Given the description of an element on the screen output the (x, y) to click on. 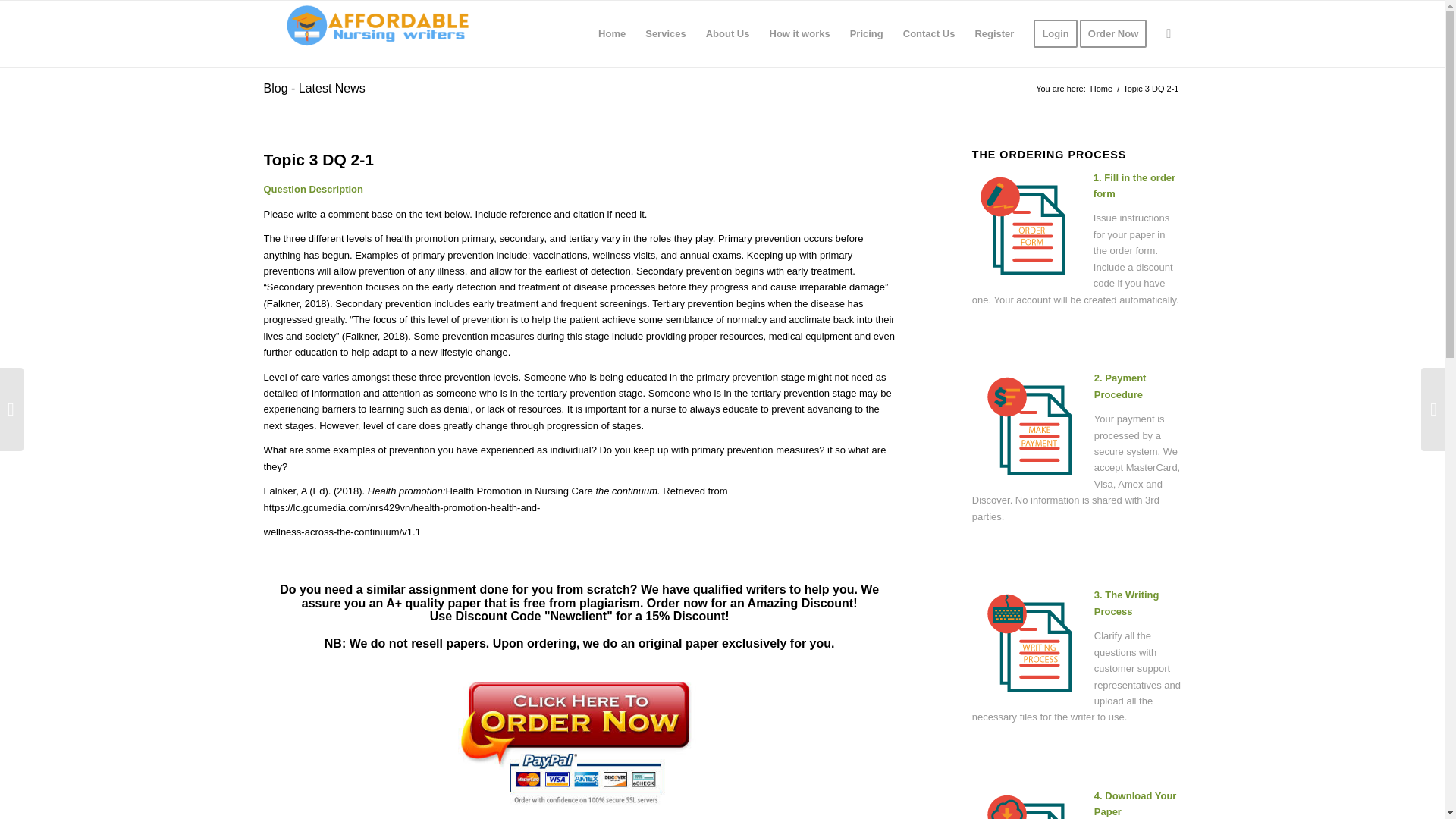
Blog - Latest News (314, 88)
About Us (727, 33)
Order Now (1118, 33)
Permanent Link: Blog - Latest News (314, 88)
Contact Us (929, 33)
Permanent Link: Topic 3 DQ 2-1 (318, 159)
Topic 3 DQ 2-1 (318, 159)
Services (664, 33)
Login (1054, 33)
Affordable Nursing Writers (1101, 89)
